Given the description of an element on the screen output the (x, y) to click on. 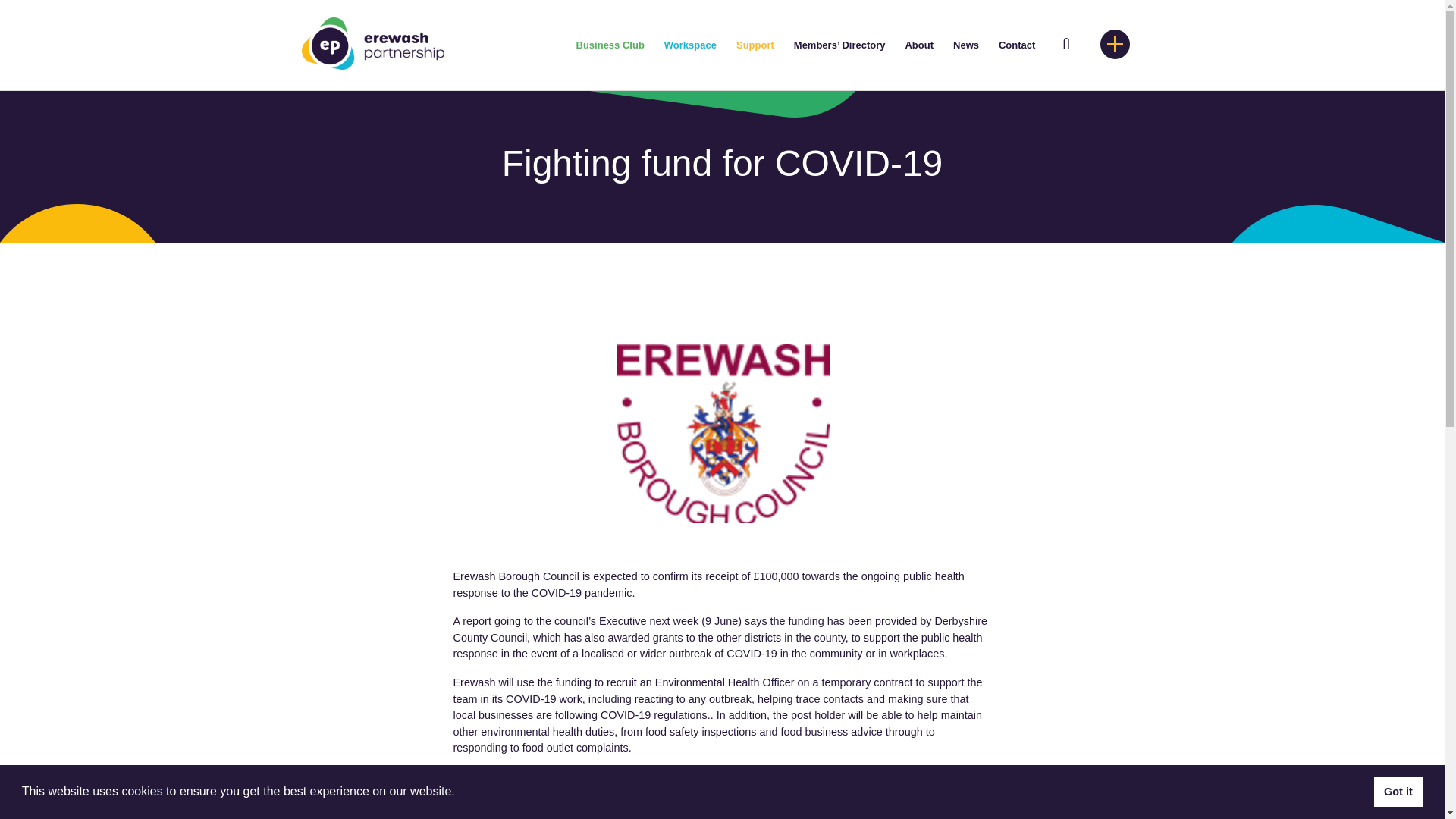
Workspace (690, 44)
Business Club (610, 44)
Support (755, 44)
Support (755, 44)
Business Club (610, 44)
About (918, 44)
Search (36, 9)
Erewash Partnership (372, 43)
Workspace (690, 44)
